Given the description of an element on the screen output the (x, y) to click on. 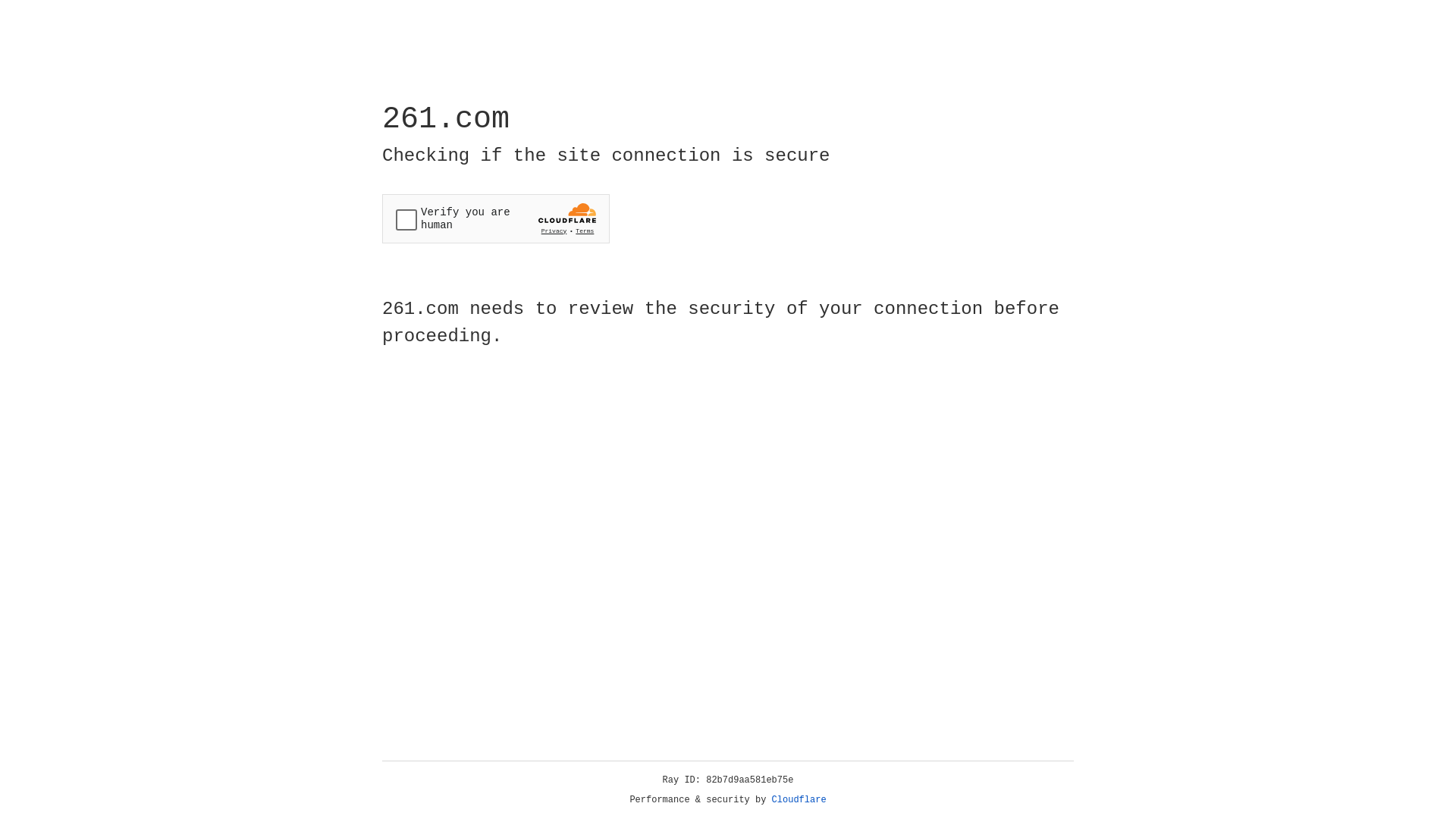
Cloudflare Element type: text (798, 799)
Widget containing a Cloudflare security challenge Element type: hover (495, 218)
